Given the description of an element on the screen output the (x, y) to click on. 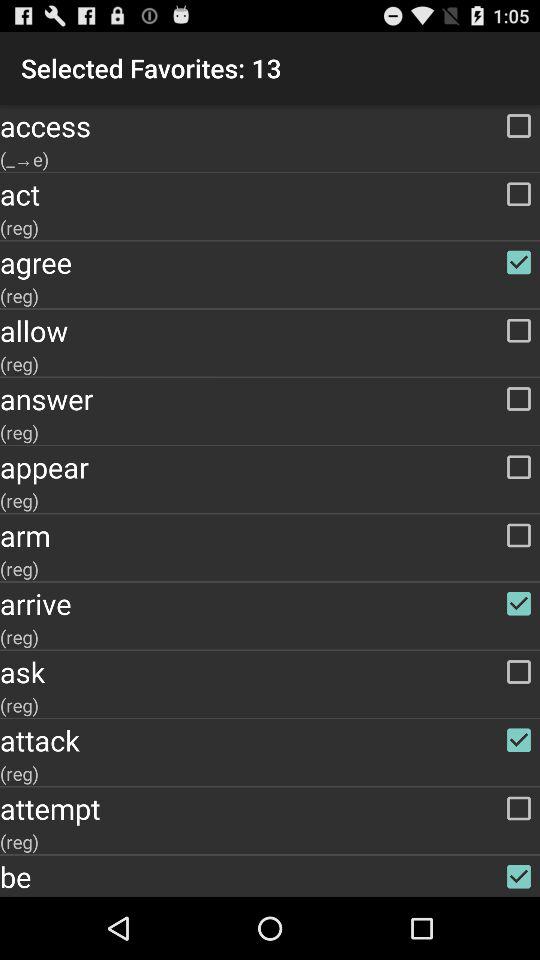
select be (270, 875)
